Given the description of an element on the screen output the (x, y) to click on. 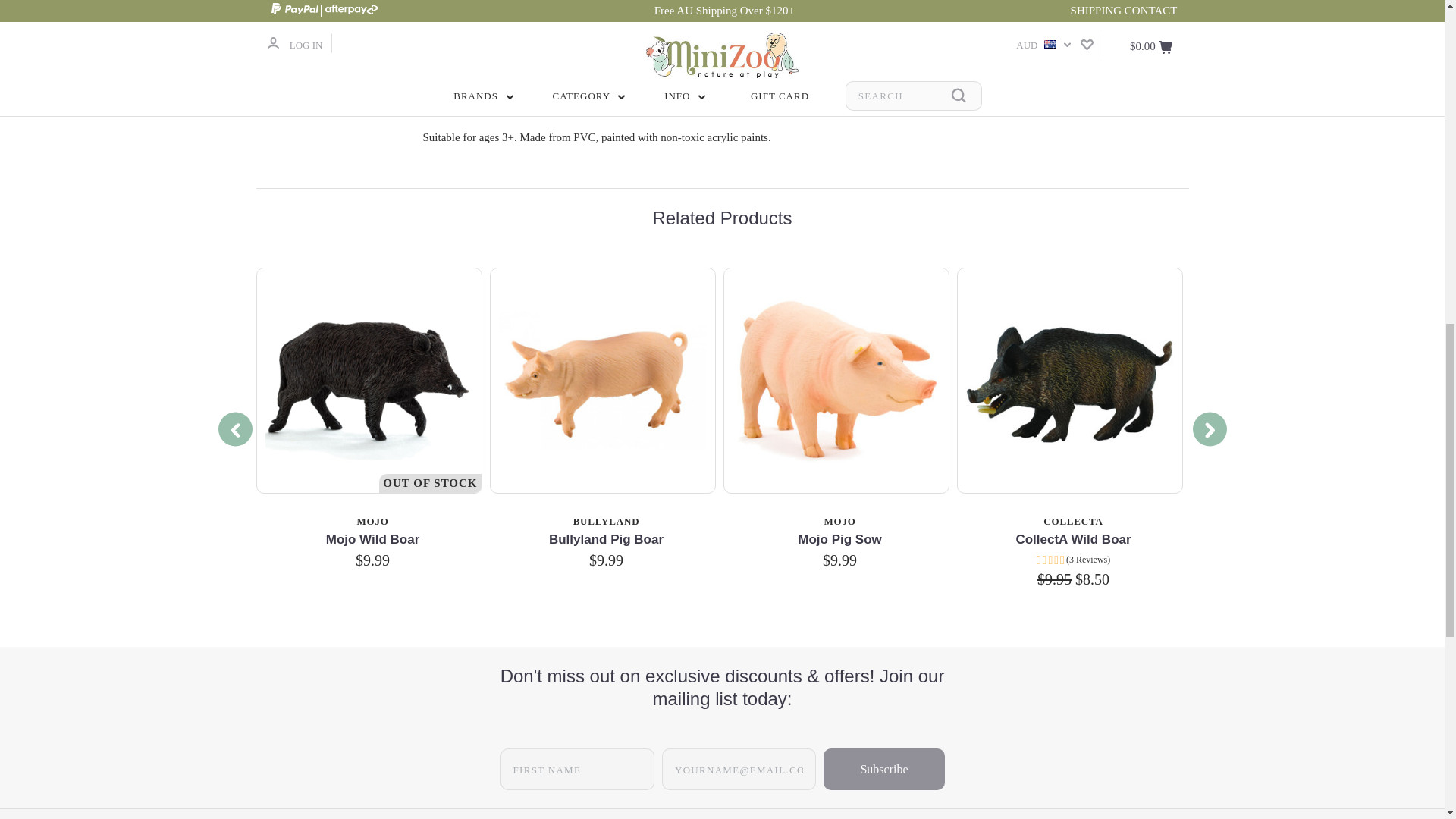
Subscribe (883, 769)
5 Stars - 3 Reviews (1073, 560)
Mojo Pig Sow (835, 380)
CollectA Wild Boar (1068, 380)
Bullyland Pig Boar (601, 379)
Mojo Wild Boar (368, 380)
